Given the description of an element on the screen output the (x, y) to click on. 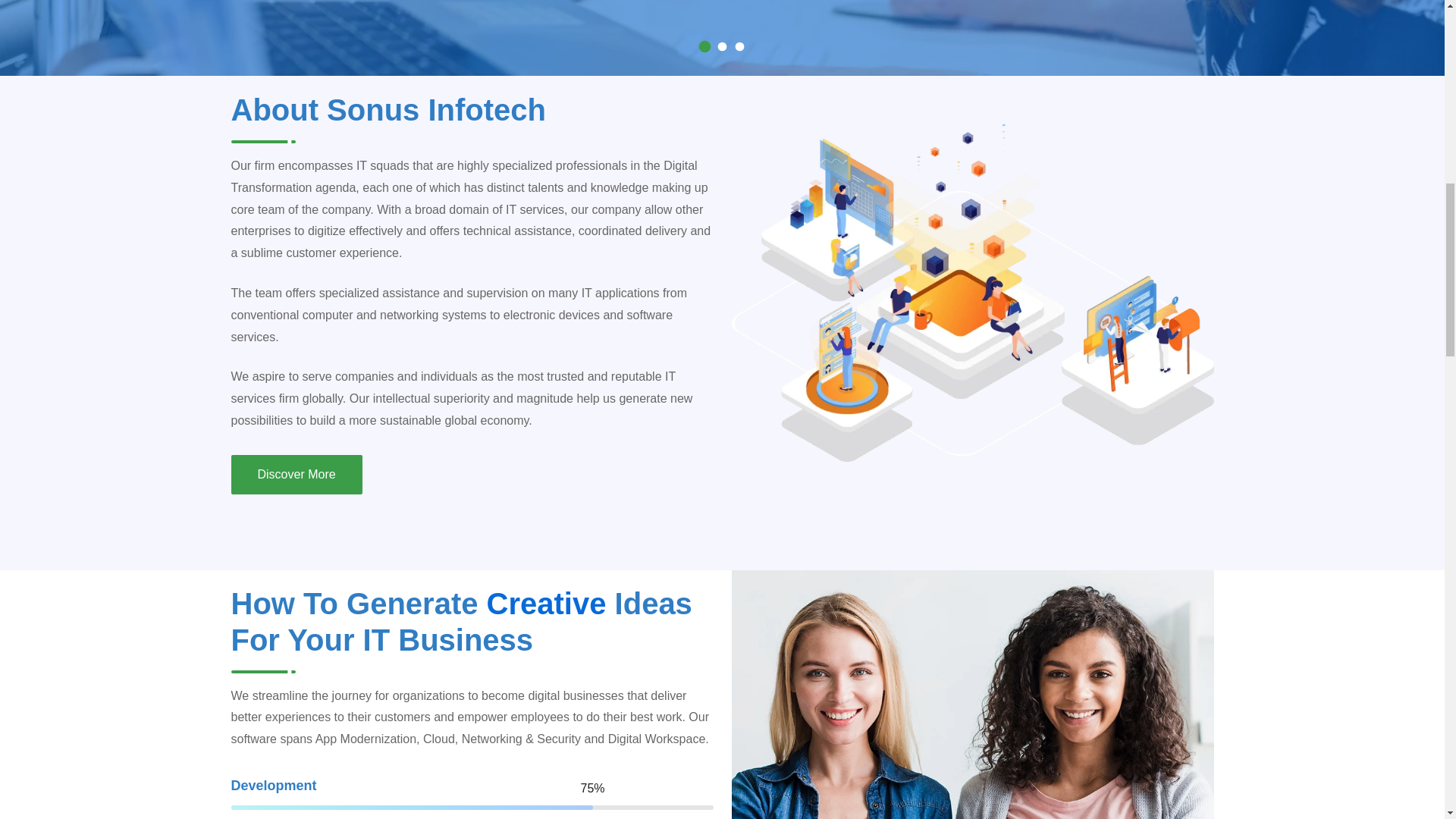
Discover More (295, 474)
